Given the description of an element on the screen output the (x, y) to click on. 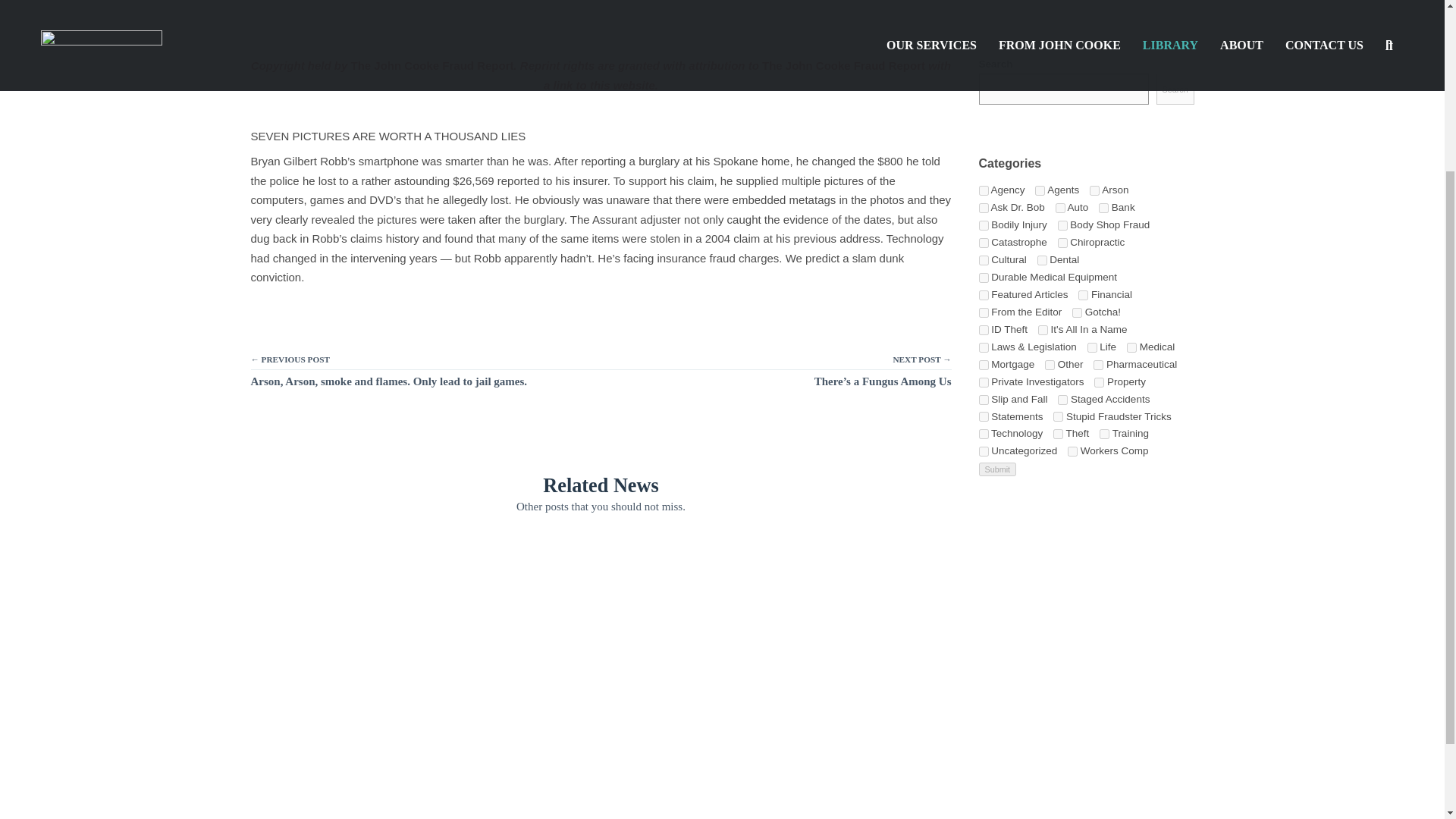
43 (1103, 207)
29 (1082, 295)
Search (1174, 88)
47 (983, 329)
58 (1060, 207)
28 (1062, 243)
34 (983, 243)
30 (1062, 225)
35 (983, 312)
22 (983, 260)
49 (1076, 312)
32 (983, 277)
44 (1041, 260)
53 (983, 207)
42 (1040, 190)
